Given the description of an element on the screen output the (x, y) to click on. 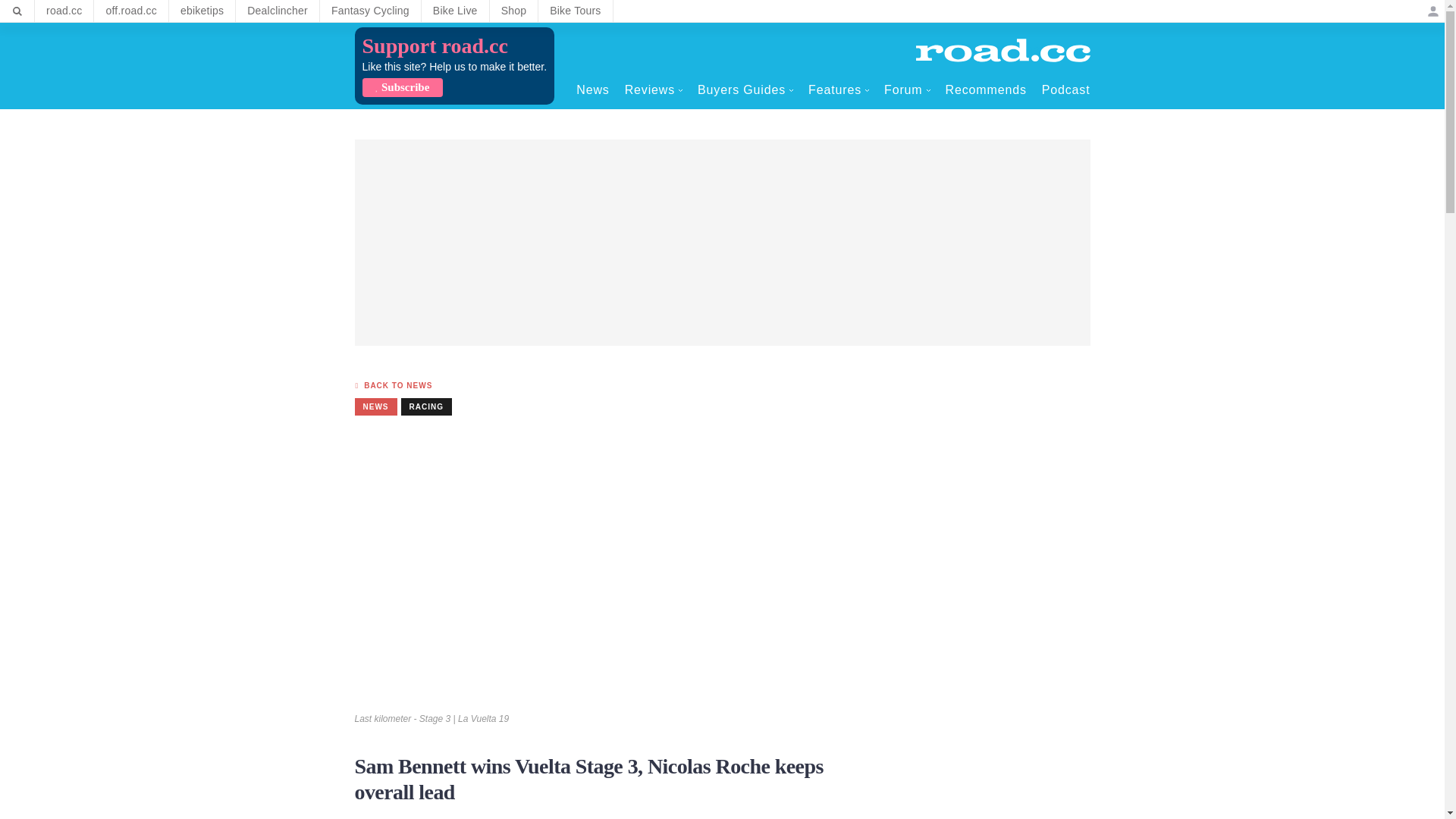
Bike Tours (574, 11)
ebiketips (201, 11)
road.cc (63, 11)
off.road.cc (131, 11)
Home (1002, 50)
Fantasy Cycling (370, 11)
Subscribe (402, 87)
Shop (513, 11)
Bike Live (455, 11)
Dealclincher (276, 11)
